Given the description of an element on the screen output the (x, y) to click on. 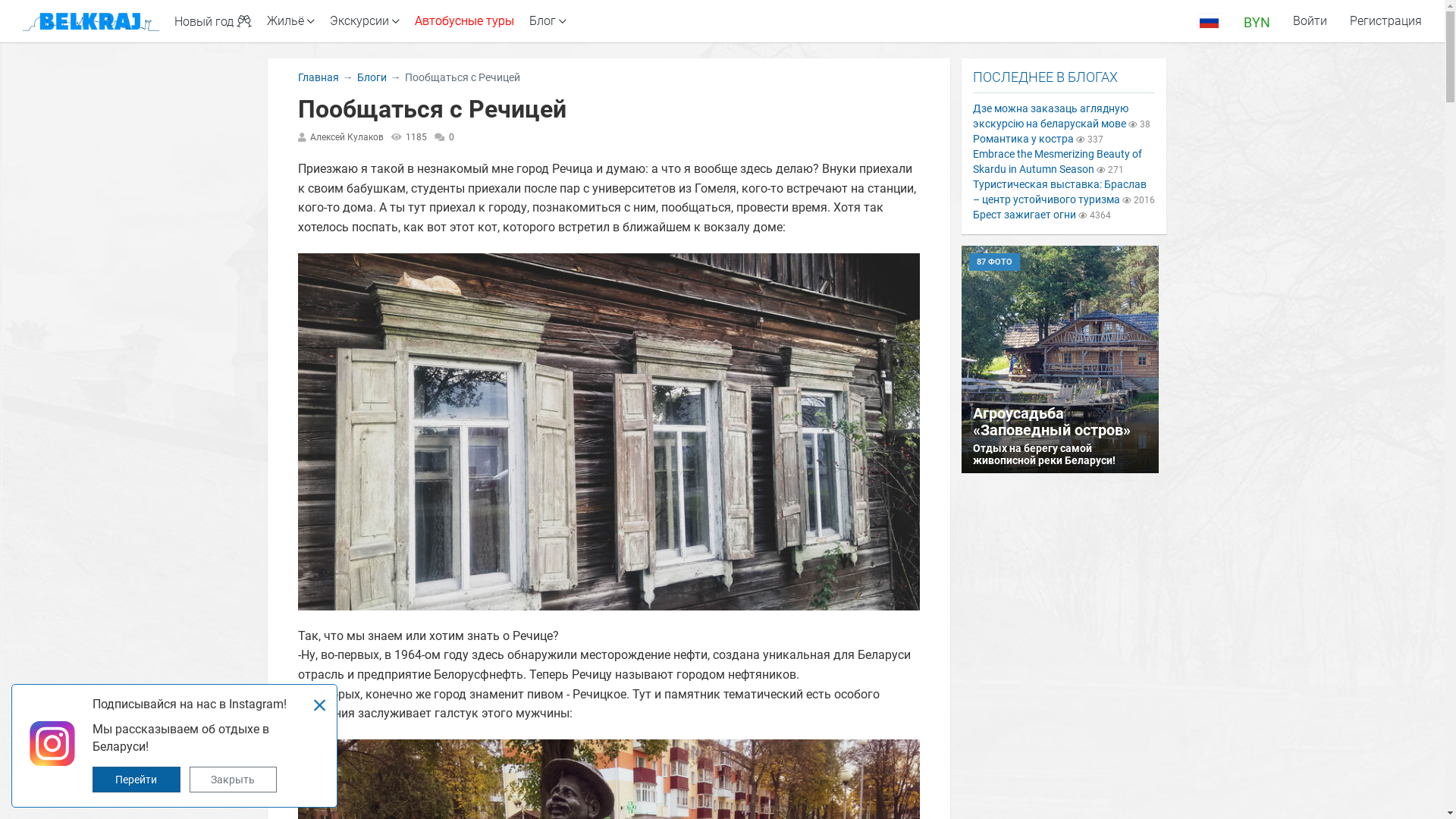
Embrace the Mesmerizing Beauty of Skardu in Autumn Season Element type: text (1056, 161)
BYN Element type: text (1256, 20)
